Given the description of an element on the screen output the (x, y) to click on. 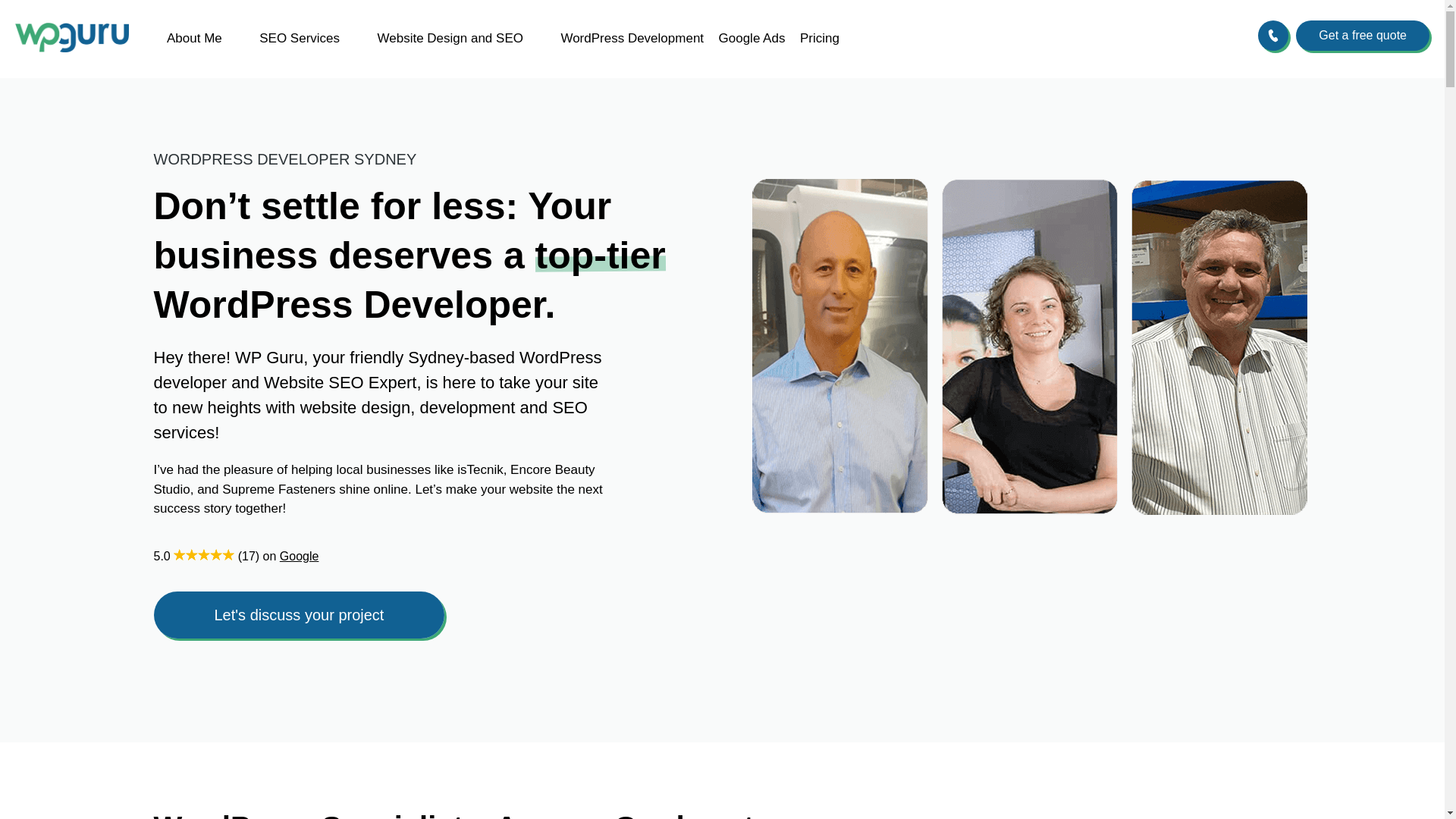
SEO Services (299, 38)
WordPress Development (631, 38)
Pricing (819, 38)
Google (298, 554)
Let's discuss your project (298, 614)
Get a free quote (1362, 35)
About Me (194, 38)
Website Design and SEO (449, 38)
Google Ads (752, 38)
